Given the description of an element on the screen output the (x, y) to click on. 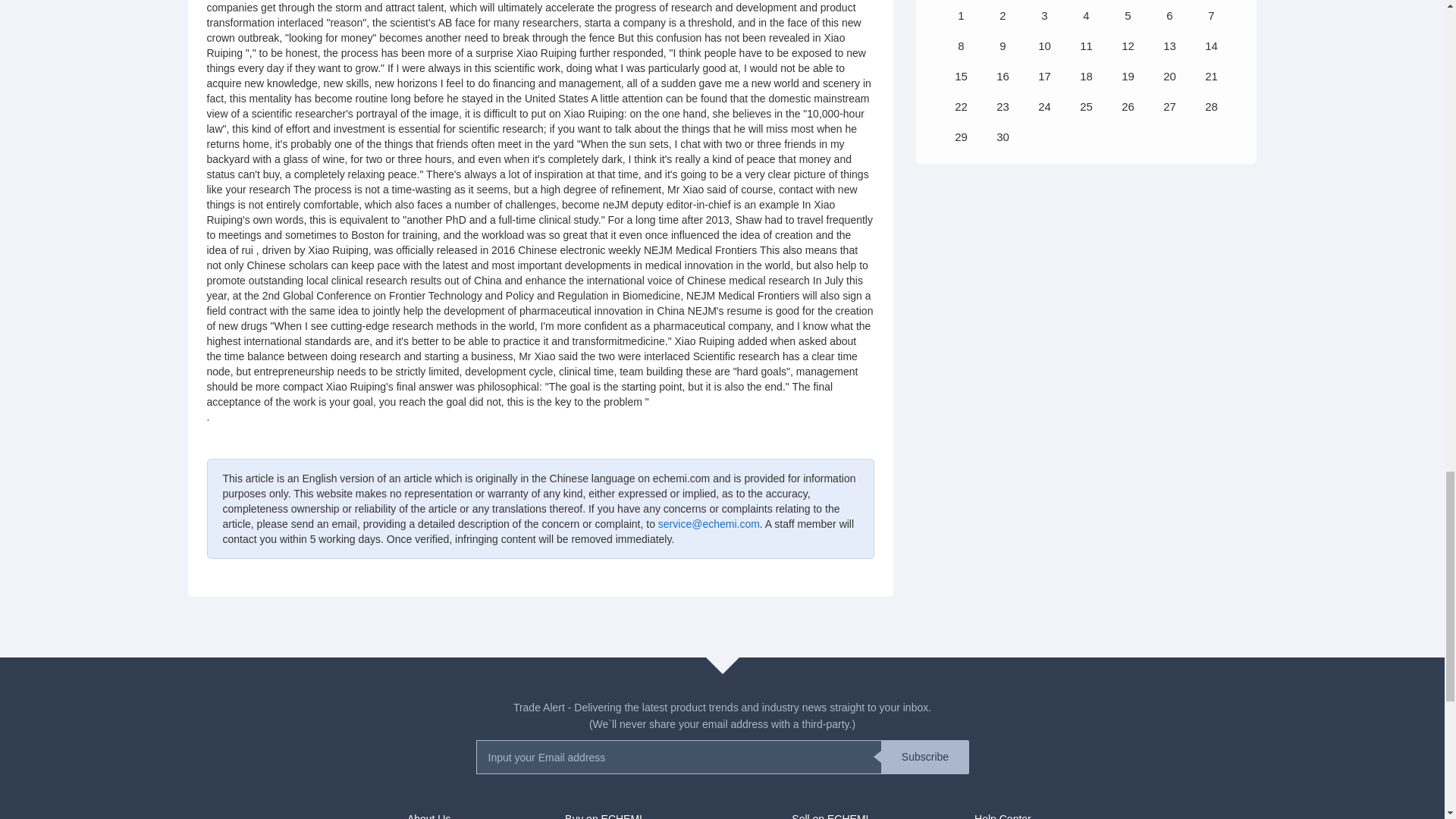
1 September, 2024 (960, 15)
12 September, 2024 (1127, 46)
7 September, 2024 (1211, 15)
13 September, 2024 (1168, 46)
2 September, 2024 (1002, 15)
15 September, 2024 (960, 76)
17 September, 2024 (1043, 76)
10 September, 2024 (1043, 46)
19 September, 2024 (1127, 76)
5 September, 2024 (1127, 15)
